Given the description of an element on the screen output the (x, y) to click on. 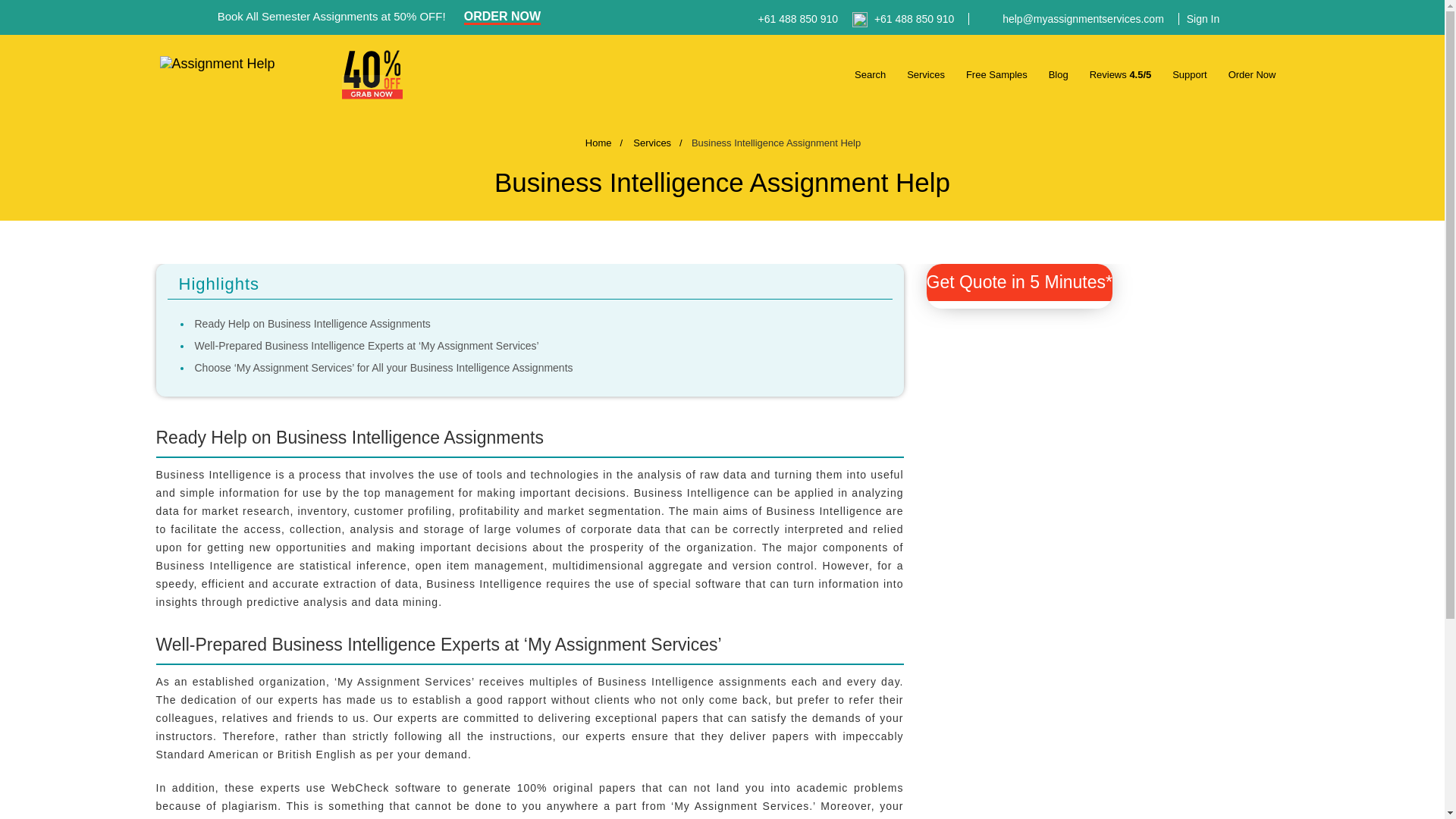
Ready Help on Business Intelligence Assignments (311, 323)
Search (869, 63)
Sign In (1198, 19)
Ready Help on Business Intelligence Assignments (311, 323)
Assignment Help (242, 69)
Services (925, 63)
